Given the description of an element on the screen output the (x, y) to click on. 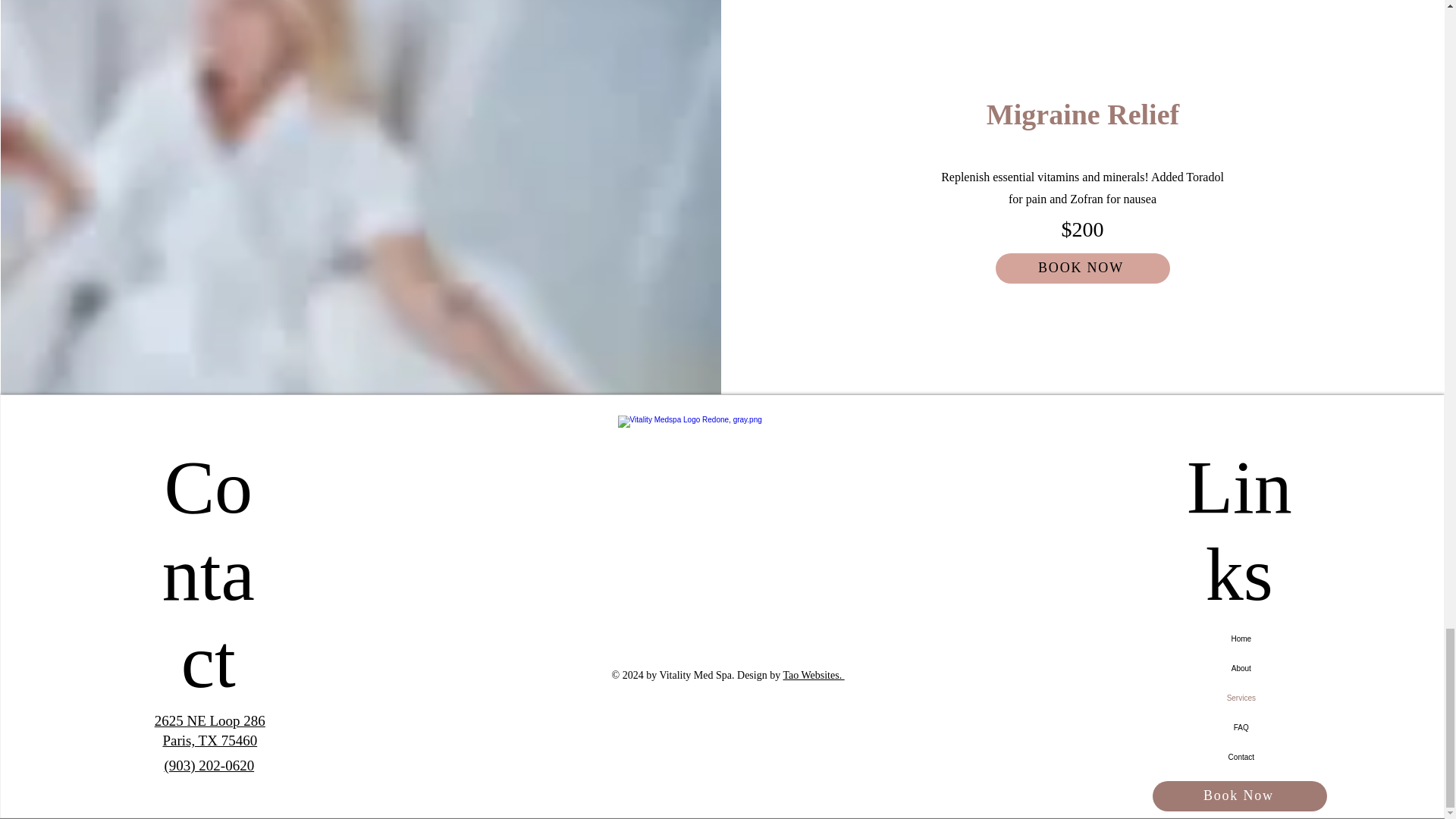
2625 NE Loop 286 (209, 720)
Book Now (1239, 796)
Home (1240, 638)
Services (1240, 697)
Tao Websites.  (813, 674)
About (1240, 668)
Paris, TX 75460 (209, 740)
Contact (1240, 757)
FAQ (1240, 727)
BOOK NOW (1082, 268)
